Given the description of an element on the screen output the (x, y) to click on. 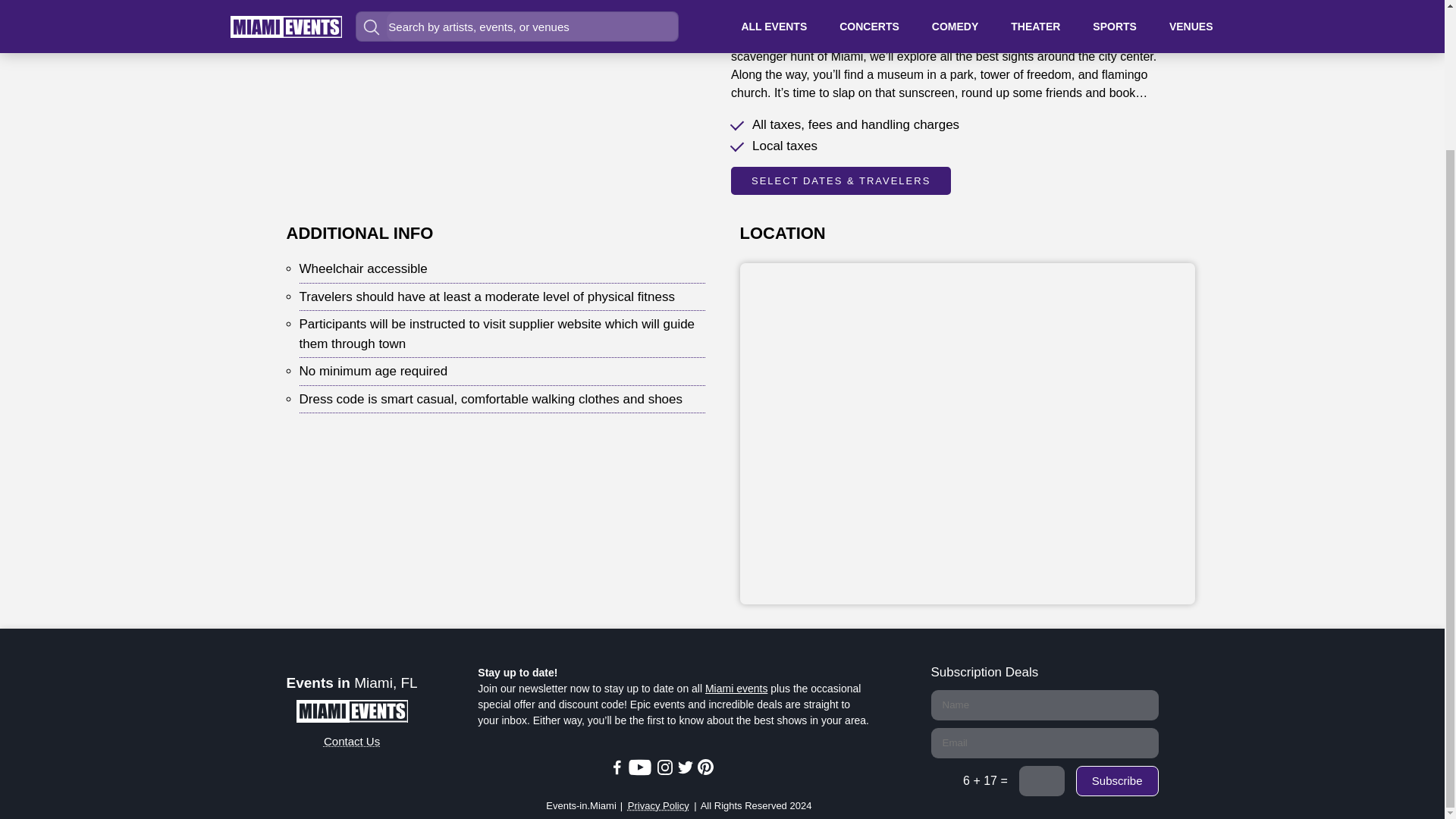
Privacy Policy (657, 806)
Miami events (735, 688)
Contact Us (351, 751)
